Given the description of an element on the screen output the (x, y) to click on. 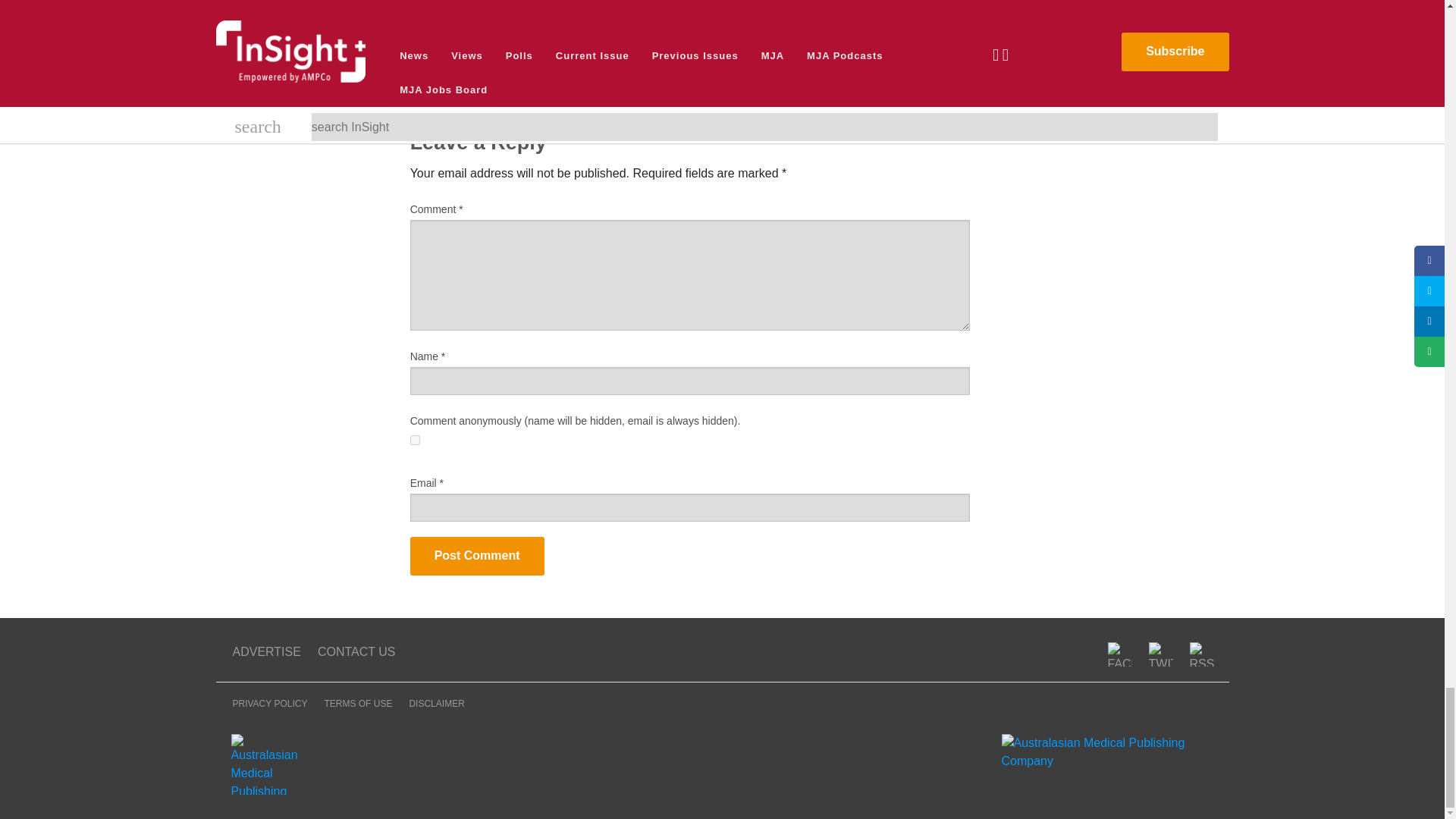
Post Comment (477, 556)
on (415, 439)
